Given the description of an element on the screen output the (x, y) to click on. 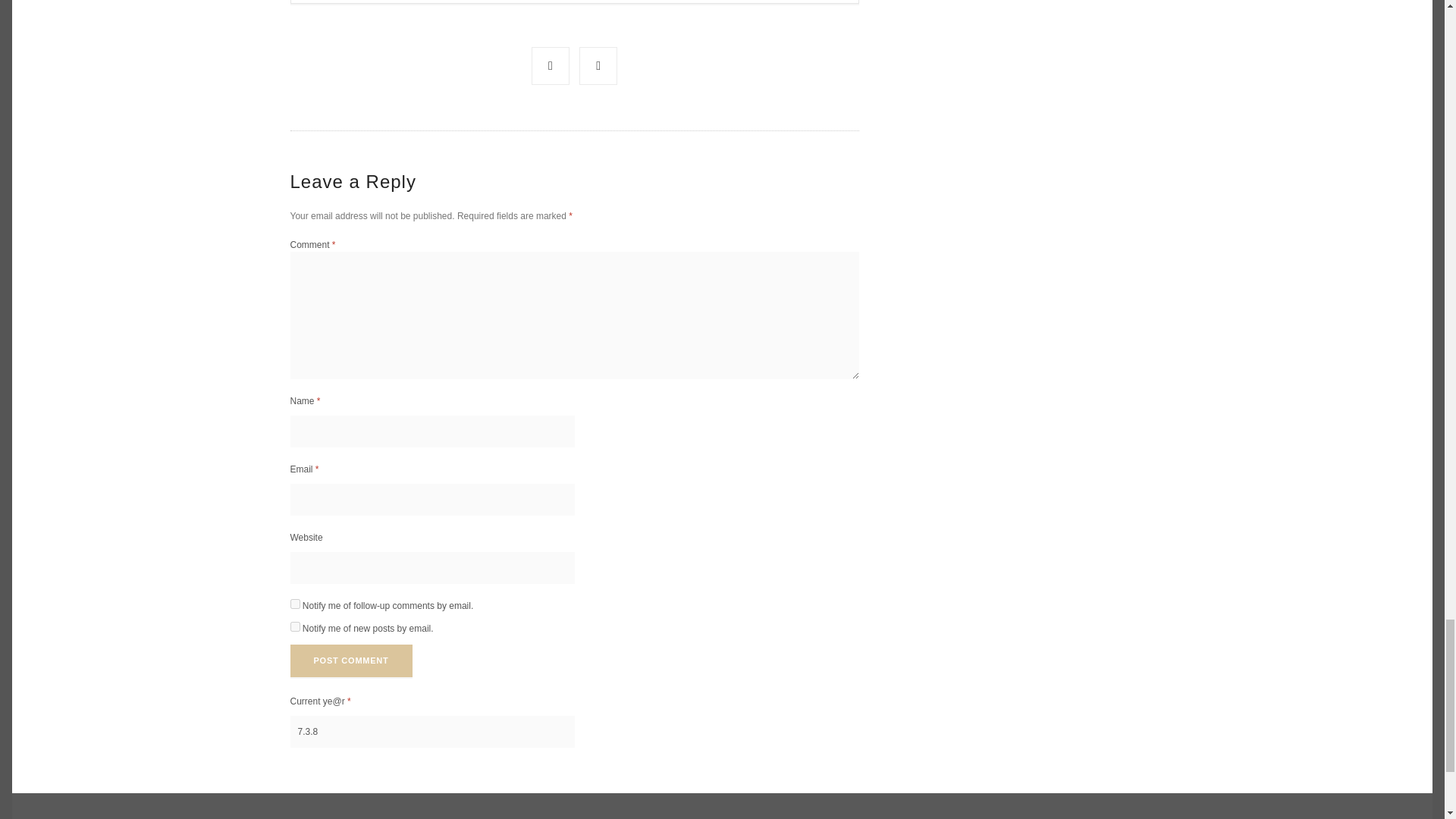
subscribe (294, 603)
subscribe (294, 626)
Post Comment (350, 660)
Post Comment (350, 660)
7.3.8 (431, 731)
